Given the description of an element on the screen output the (x, y) to click on. 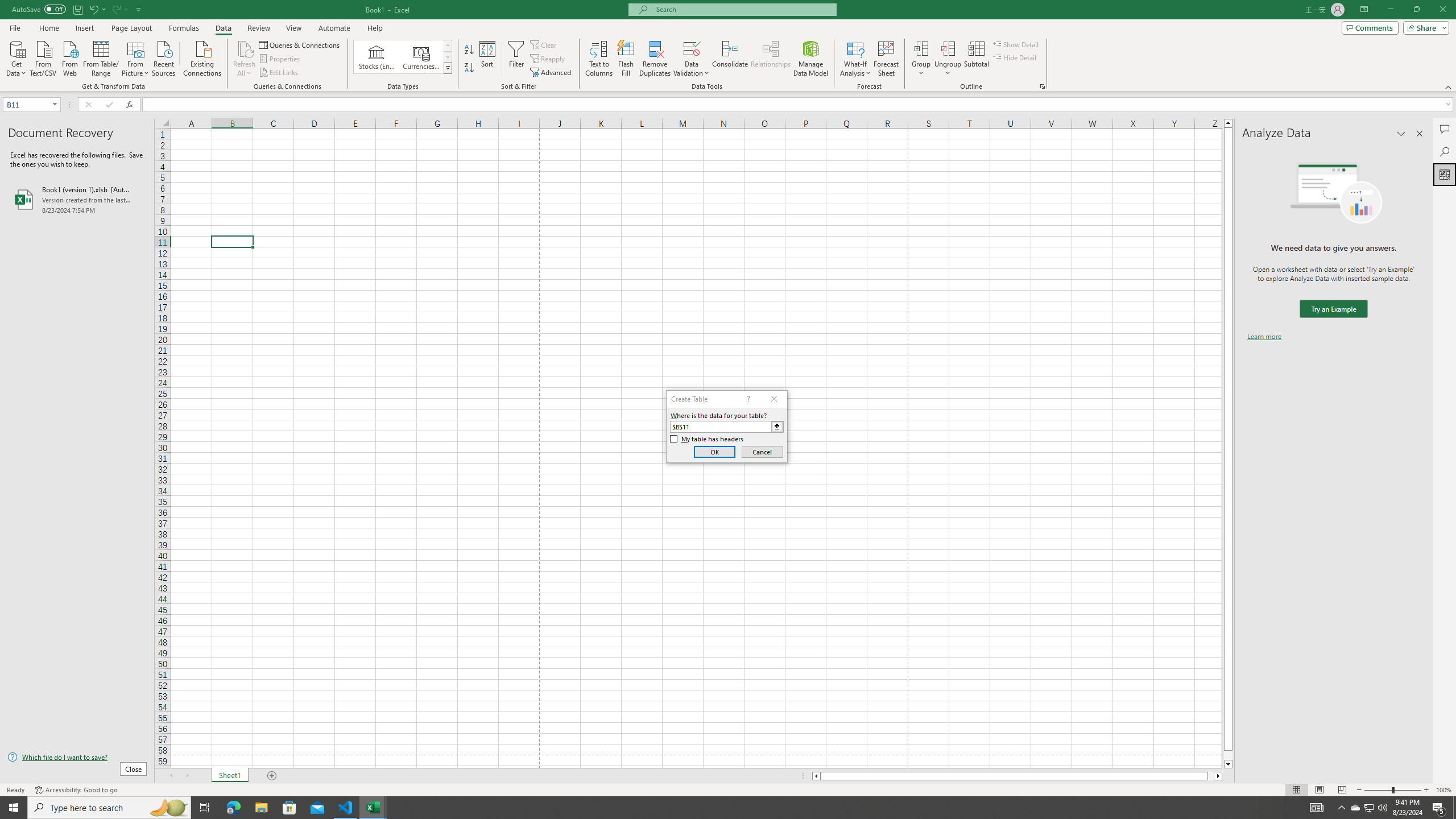
Learn more (1264, 336)
